Given the description of an element on the screen output the (x, y) to click on. 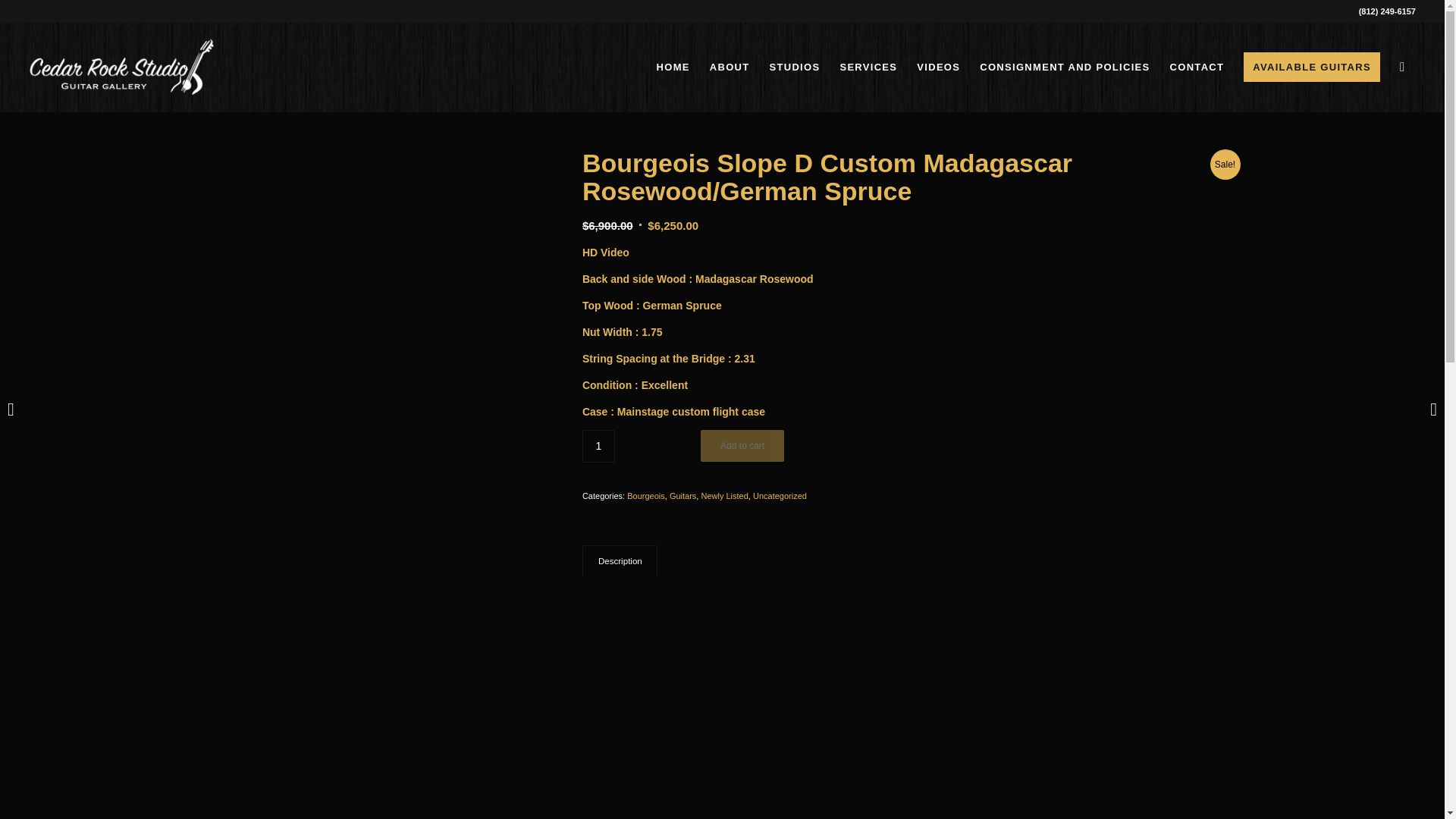
AVAILABLE GUITARS (1311, 67)
Guitars (682, 495)
CONSIGNMENT AND POLICIES (1063, 67)
Cedar Rock Guitar Studio logo (121, 67)
HD Video (605, 252)
1 (598, 445)
Qty (598, 445)
Description (620, 561)
Add to cart (742, 445)
Uncategorized (779, 495)
